Given the description of an element on the screen output the (x, y) to click on. 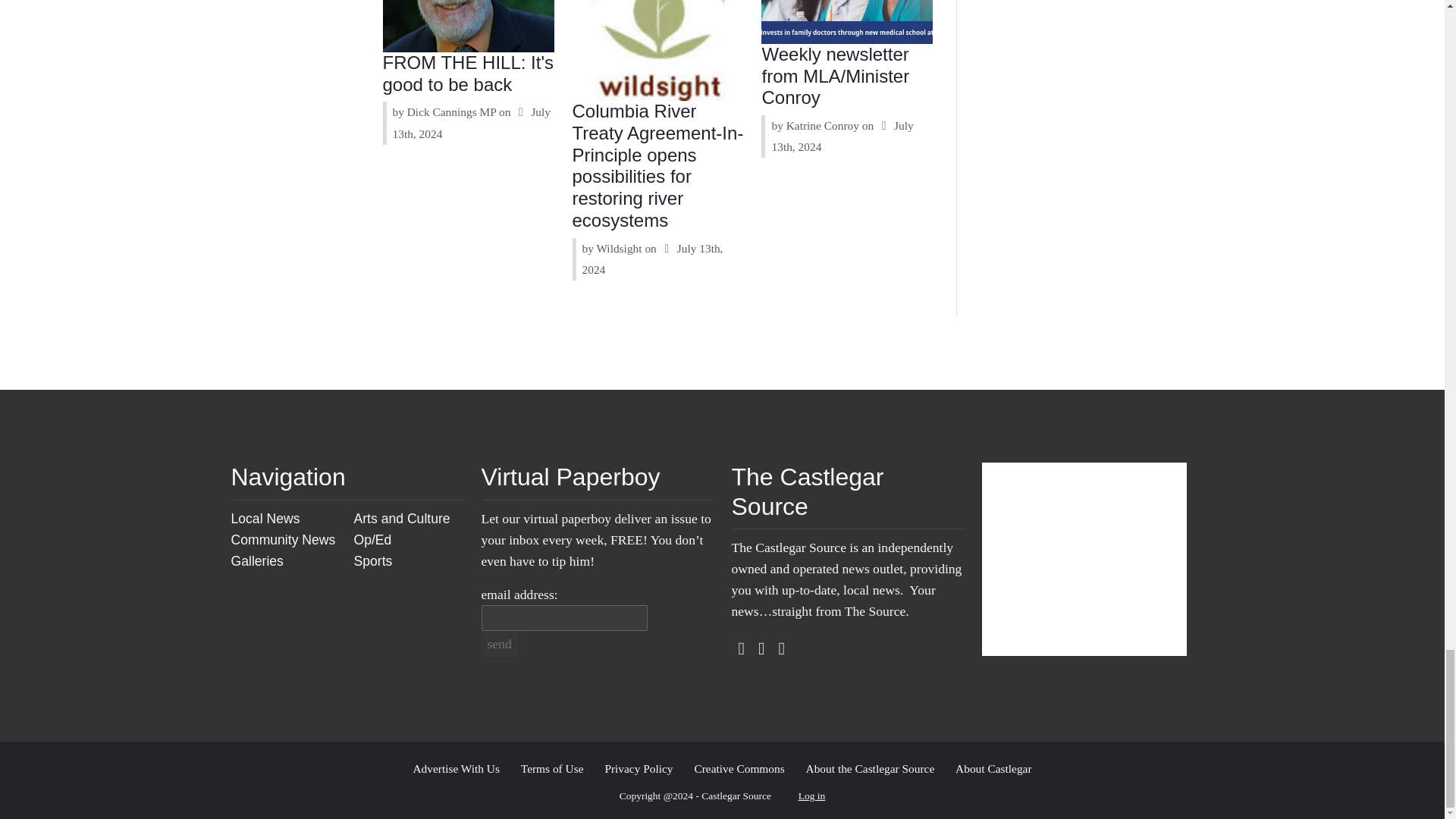
send (498, 643)
FROM THE HILL: It's good to be back (468, 73)
